Given the description of an element on the screen output the (x, y) to click on. 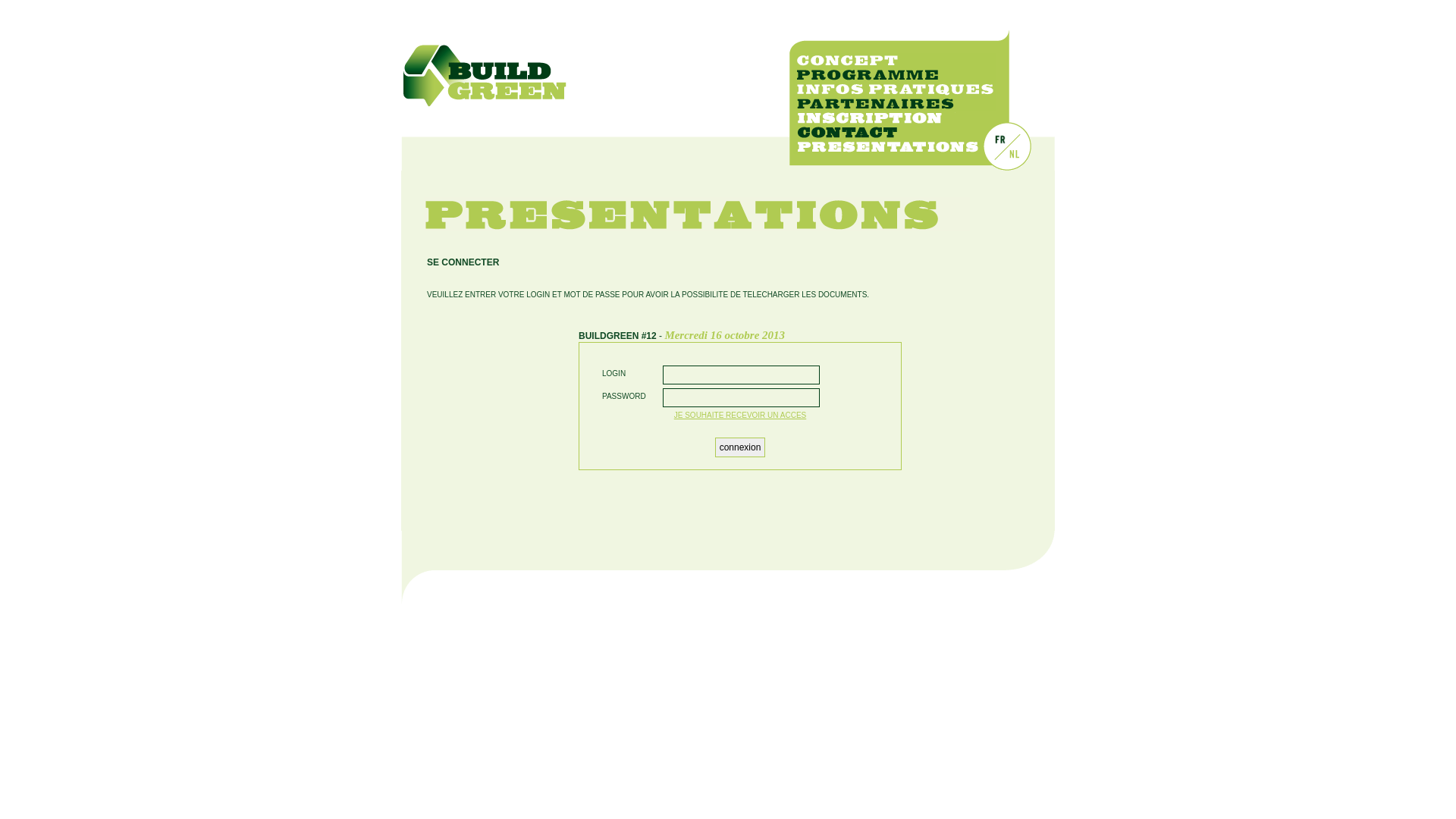
Concept Element type: text (894, 60)
Nederlands Element type: hover (1014, 153)
Programme Element type: text (894, 74)
PRESENTATIONS Element type: text (894, 146)
Partenaires Element type: text (894, 103)
Infos pratiques Element type: text (894, 88)
Inscription Element type: text (894, 117)
connexion Element type: text (740, 447)
Buildgreen Element type: text (484, 74)
Contact Element type: text (894, 132)
JE SOUHAITE RECEVOIR UN ACCES Element type: text (740, 415)
